Given the description of an element on the screen output the (x, y) to click on. 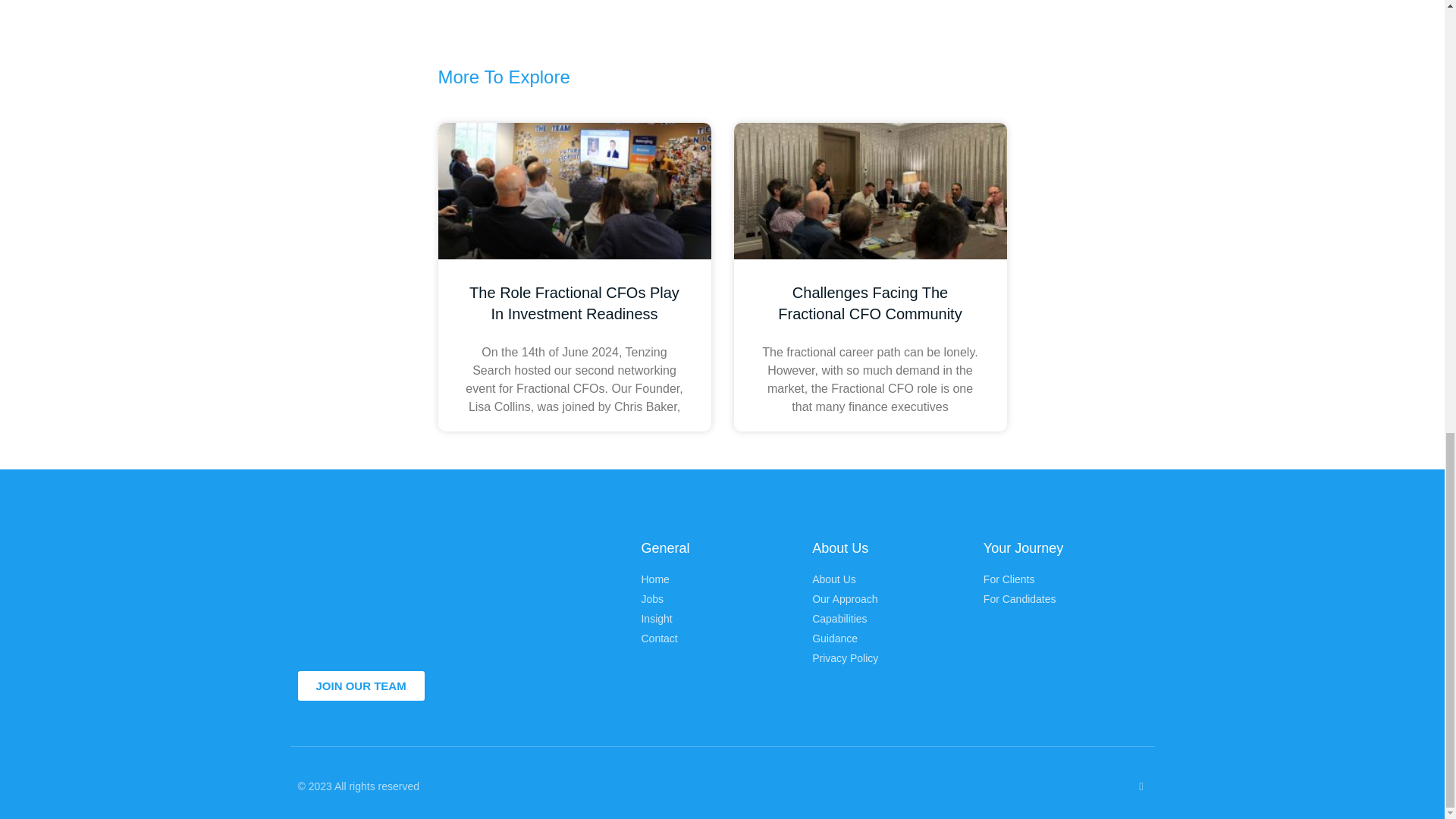
Challenges Facing The Fractional CFO Community (868, 303)
Insight (718, 618)
JOIN OUR TEAM (360, 685)
Contact (718, 638)
The Role Fractional CFOs Play In Investment Readiness (573, 303)
Jobs (718, 599)
